Given the description of an element on the screen output the (x, y) to click on. 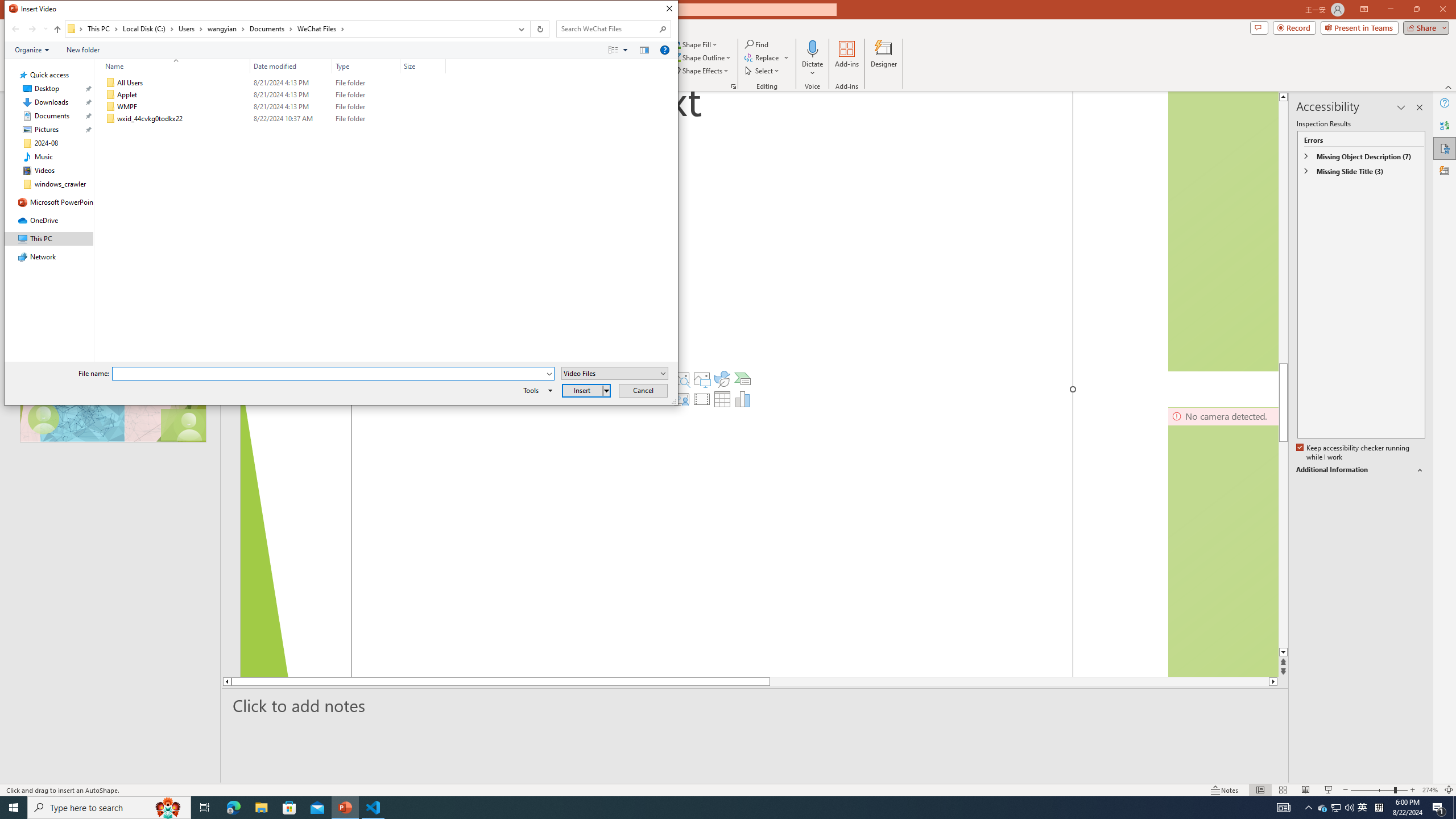
Date modified (290, 119)
Zoom 274% (1430, 790)
Navigation buttons (28, 28)
